Given the description of an element on the screen output the (x, y) to click on. 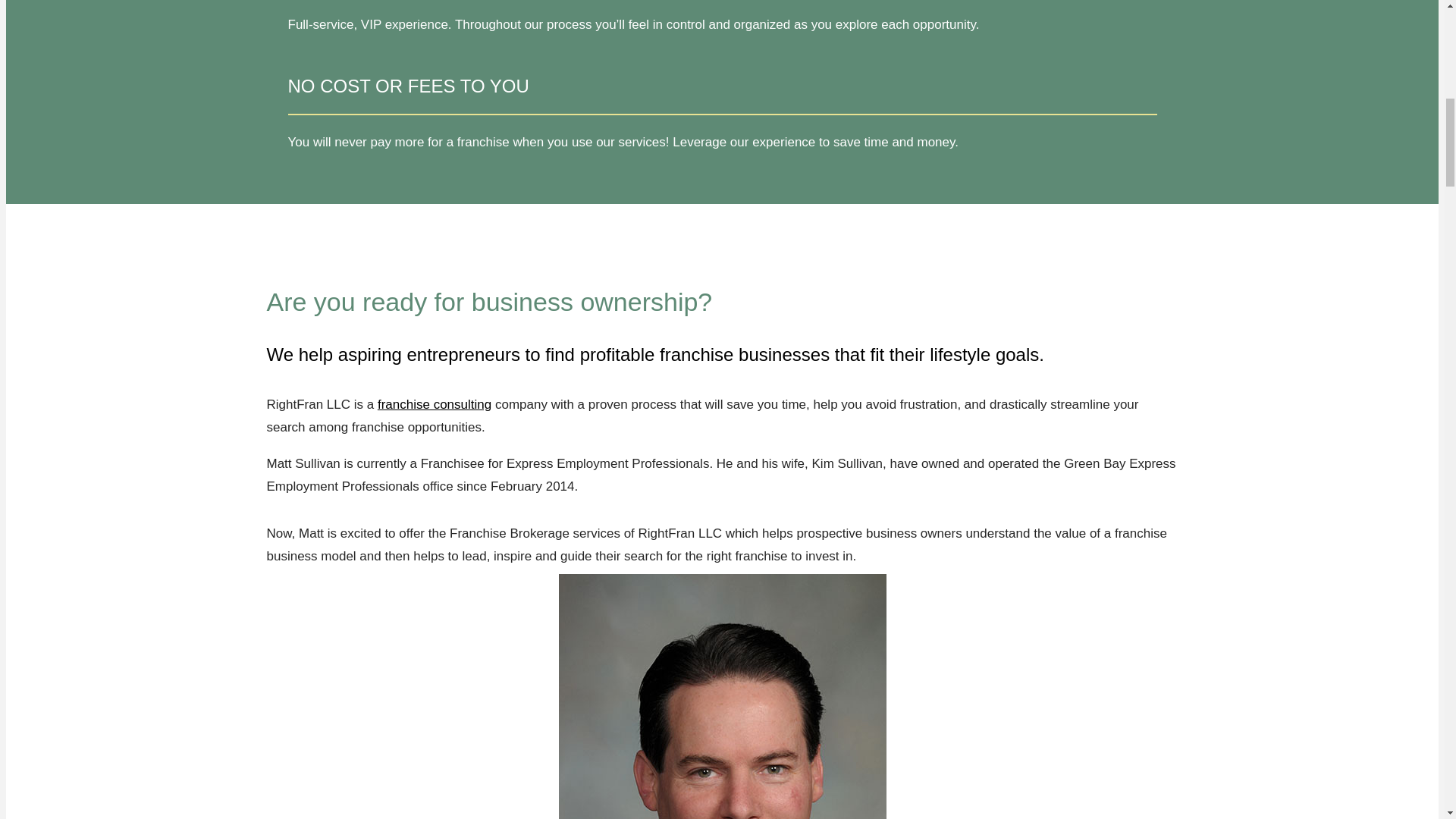
franchise consulting (434, 404)
